Given the description of an element on the screen output the (x, y) to click on. 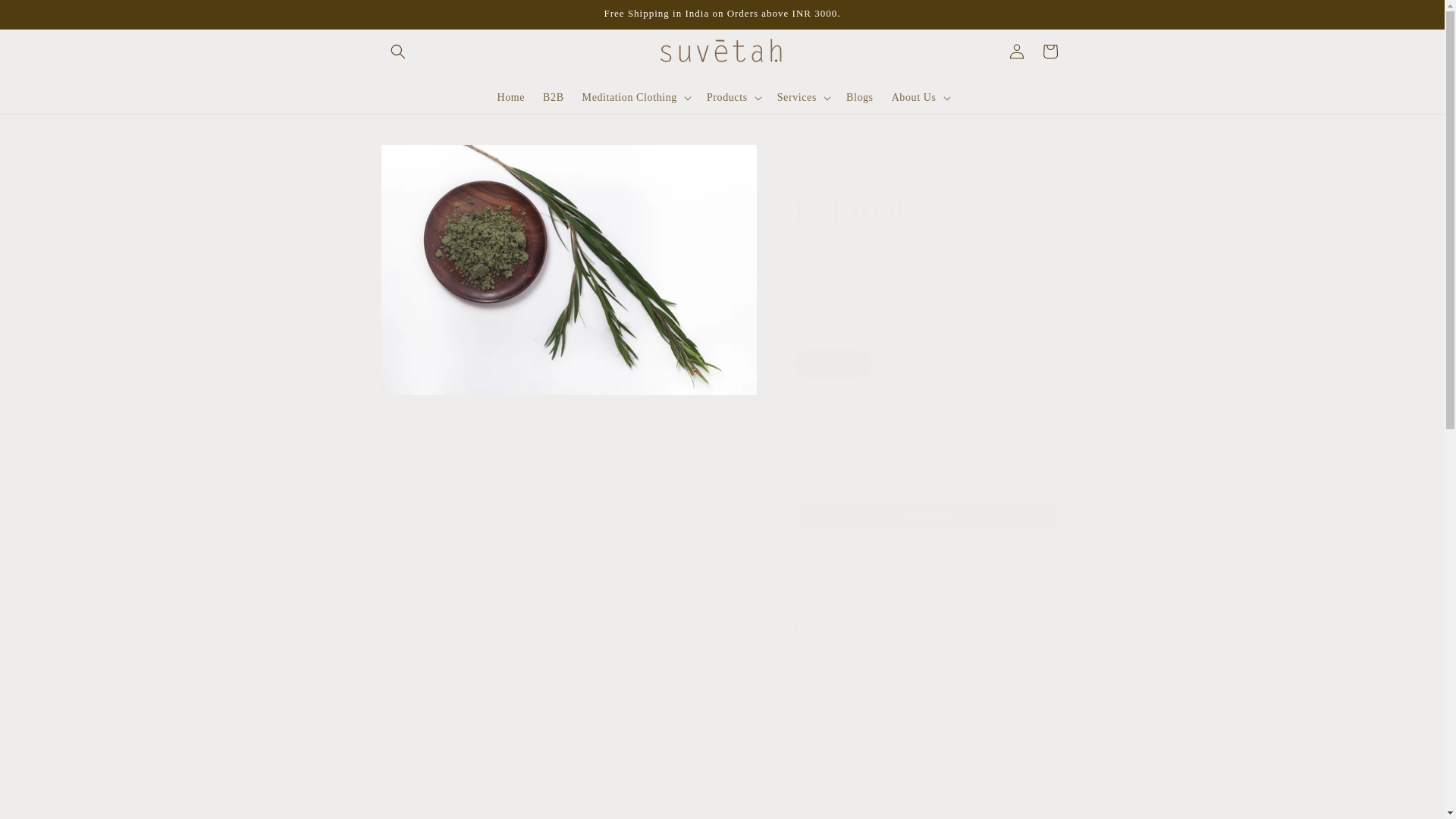
1 (848, 427)
Skip to content (45, 17)
Open media 1 in modal (567, 269)
